Given the description of an element on the screen output the (x, y) to click on. 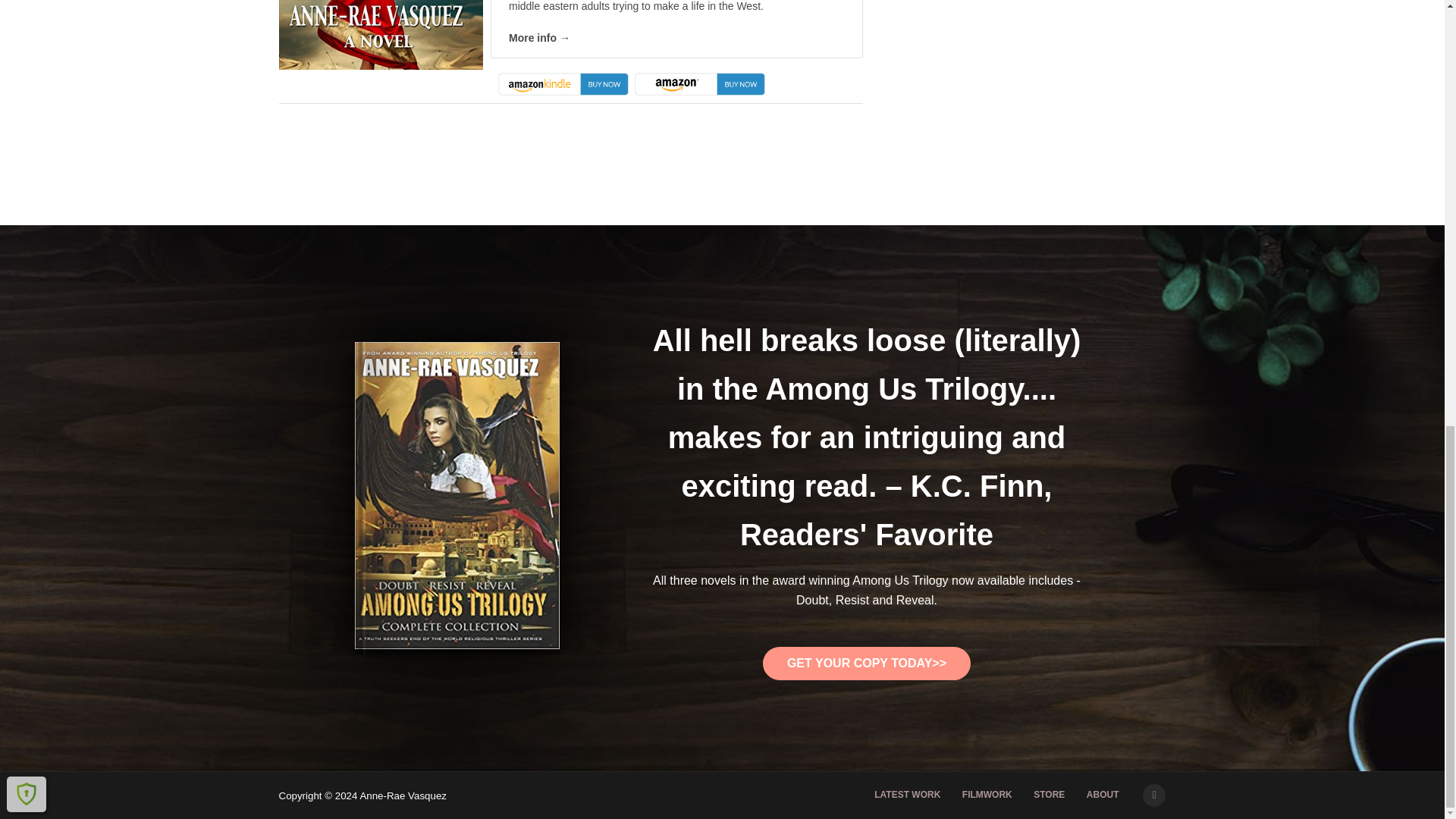
STORE (1049, 794)
FILMWORK (987, 794)
LATEST WORK (906, 794)
